Given the description of an element on the screen output the (x, y) to click on. 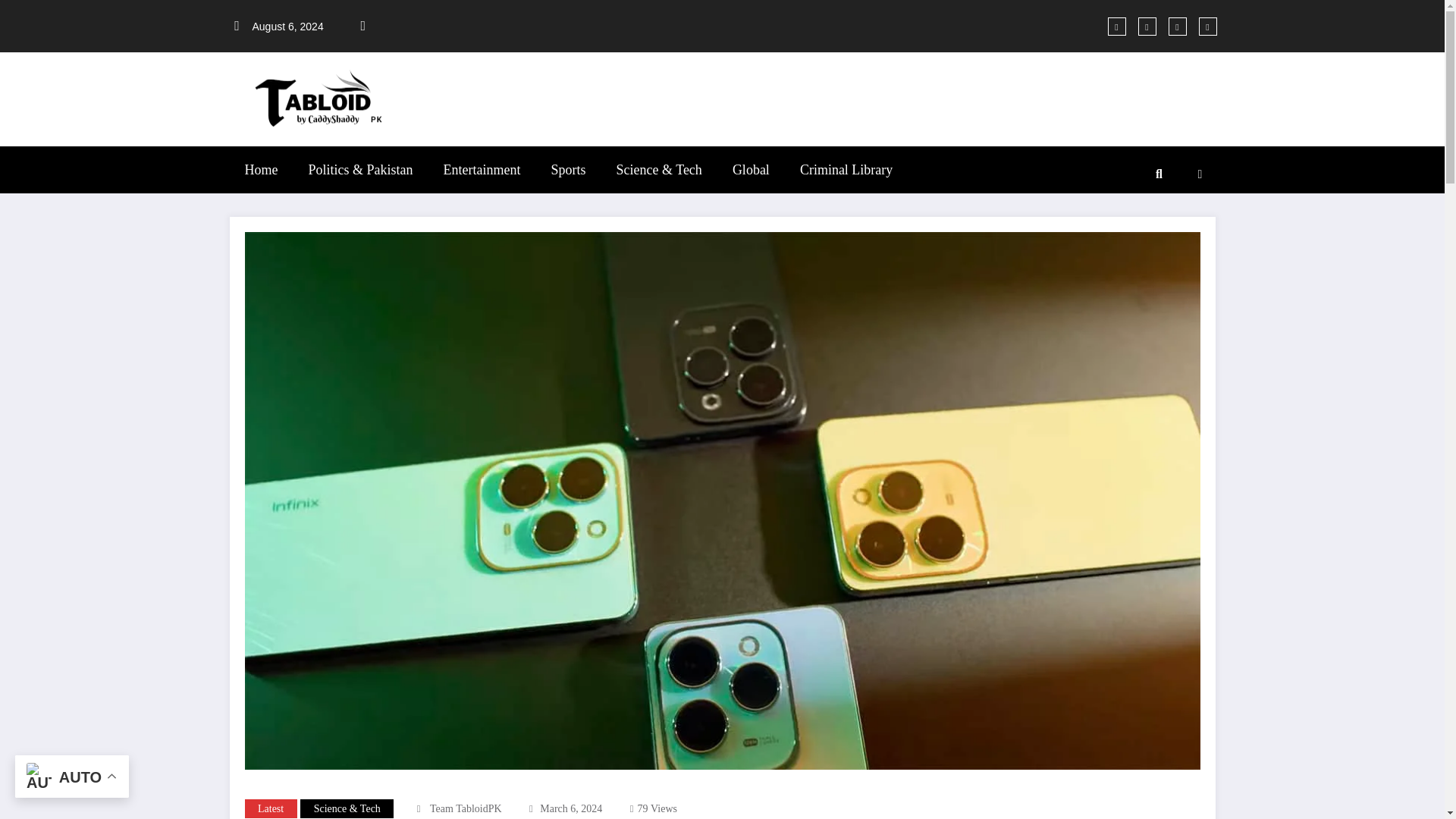
Home (260, 169)
Latest (270, 808)
Team TabloidPK (465, 808)
Global (750, 169)
twitter (1146, 26)
March 6, 2024 (571, 808)
Posts by Team TabloidPK (465, 808)
Latest (270, 808)
Sports (567, 169)
Search (1157, 173)
